Given the description of an element on the screen output the (x, y) to click on. 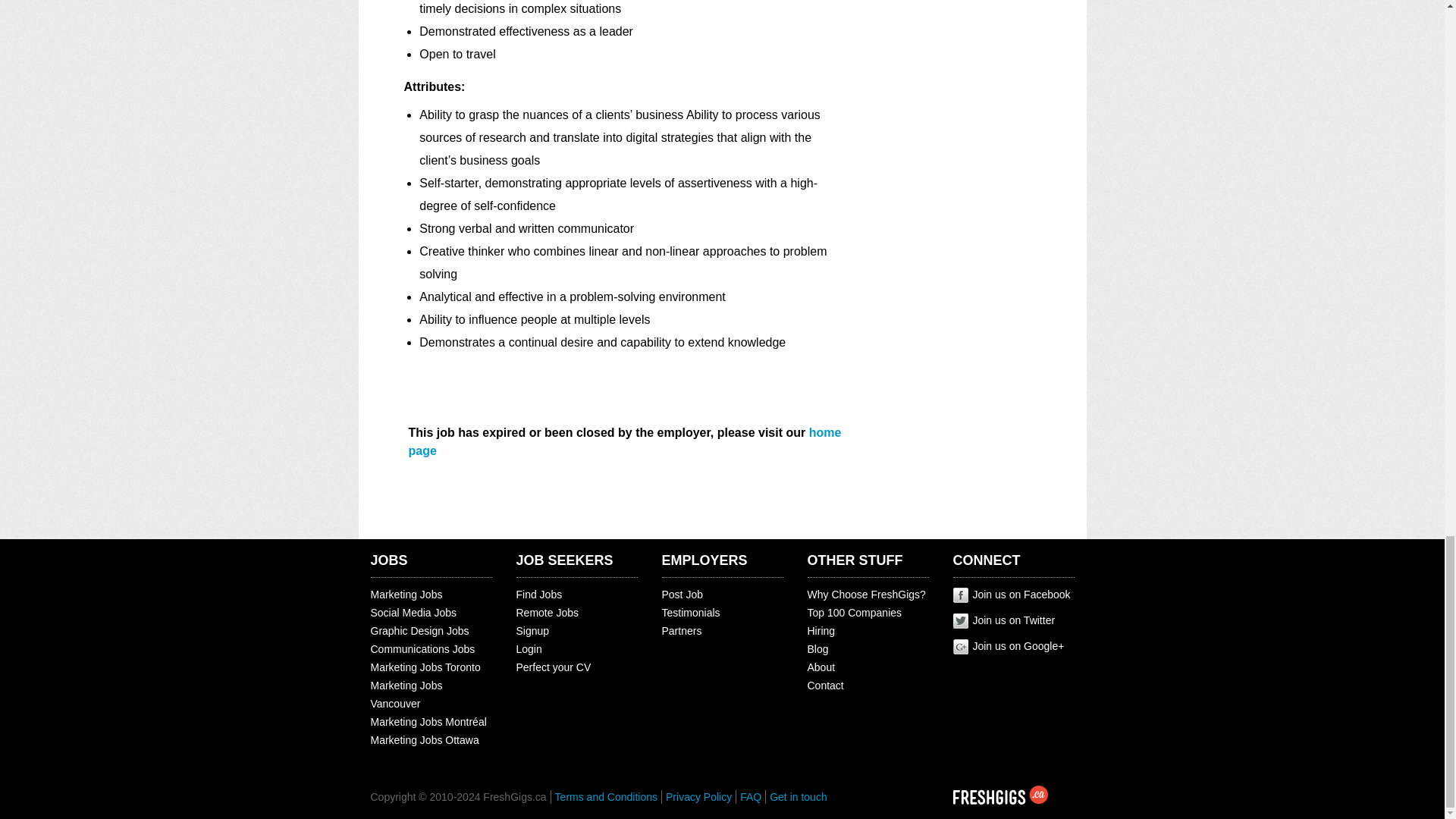
Social Media Jobs (413, 612)
home page (624, 441)
Marketing Jobs (405, 594)
Find Jobs (538, 594)
Remote Jobs (546, 612)
Signup (531, 630)
Post Job (681, 594)
Perfect your CV (553, 666)
Communications Jobs (421, 648)
JOBS (388, 560)
Marketing Jobs Toronto (424, 666)
EMPLOYERS (703, 560)
Marketing Jobs Vancouver (405, 694)
Login (528, 648)
Graphic Design Jobs (418, 630)
